Given the description of an element on the screen output the (x, y) to click on. 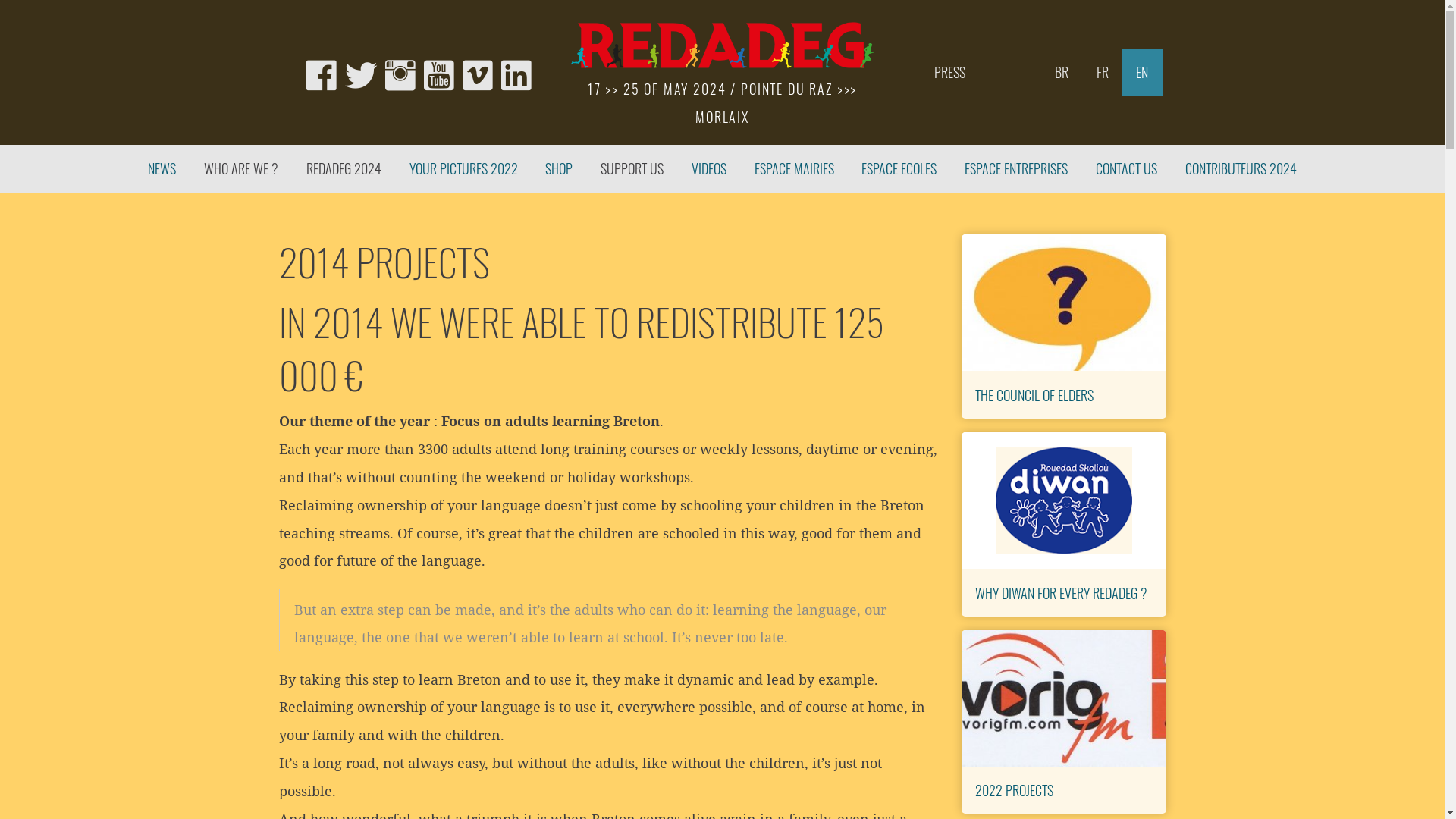
BR Element type: text (1061, 72)
NEWS Element type: text (162, 168)
THE COUNCIL OF ELDERS Element type: text (1034, 393)
YOUR PICTURES 2022 Element type: text (463, 168)
CONTRIBUTEURS 2024 Element type: text (1240, 168)
ESPACE ECOLES Element type: text (898, 168)
PRESS Element type: text (949, 72)
2022 PROJECTS Element type: text (1014, 789)
WHY DIWAN FOR EVERY REDADEG ? Element type: text (1061, 591)
ESPACE MAIRIES Element type: text (793, 168)
SHOP Element type: text (558, 168)
VIDEOS Element type: text (708, 168)
ESPACE ENTREPRISES Element type: text (1016, 168)
CONTACT US Element type: text (1126, 168)
FR Element type: text (1102, 72)
